Given the description of an element on the screen output the (x, y) to click on. 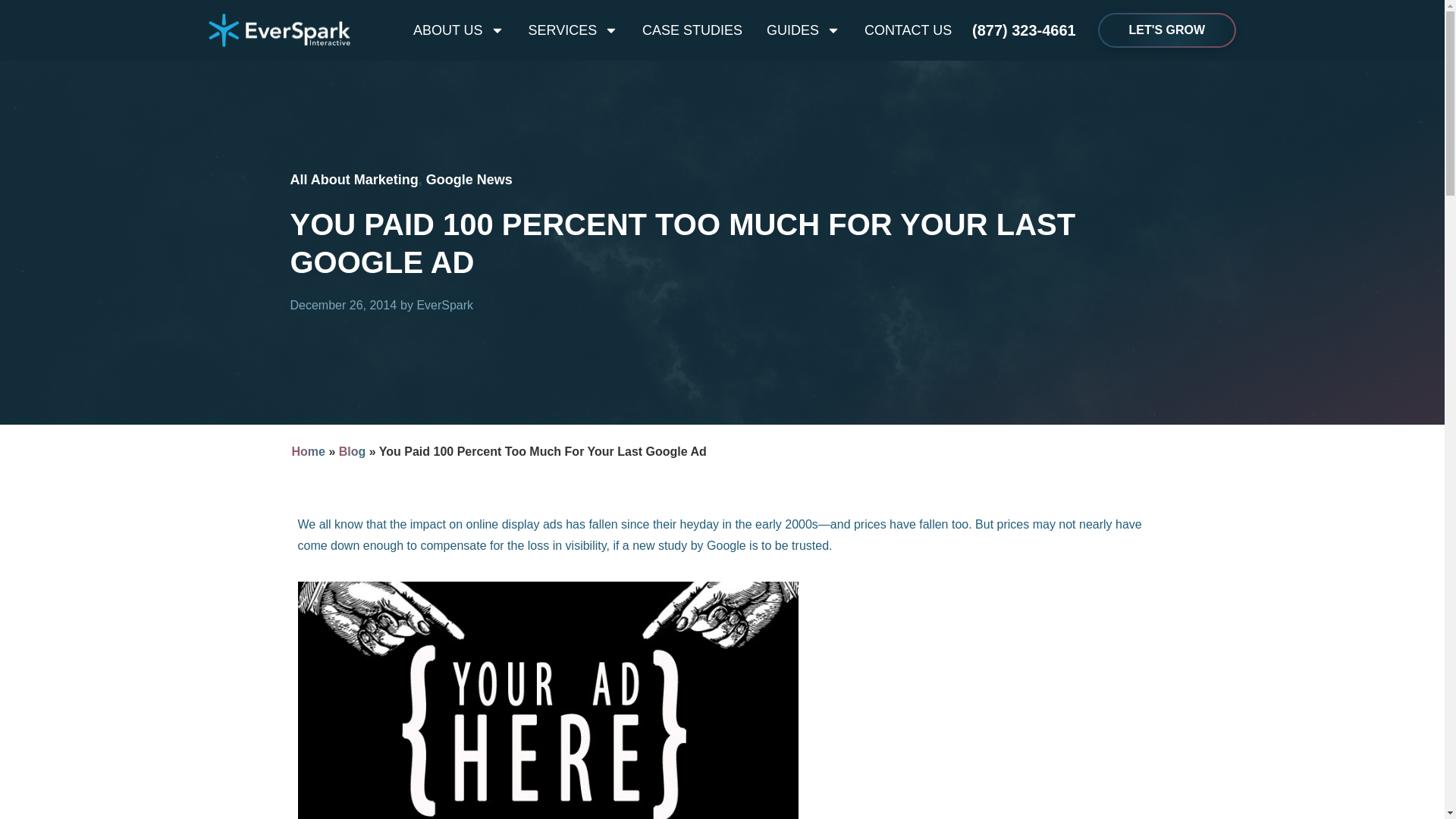
CONTACT US (901, 29)
SERVICES (573, 29)
logo2 (279, 30)
GUIDES (802, 29)
CASE STUDIES (692, 29)
ABOUT US (464, 29)
